Given the description of an element on the screen output the (x, y) to click on. 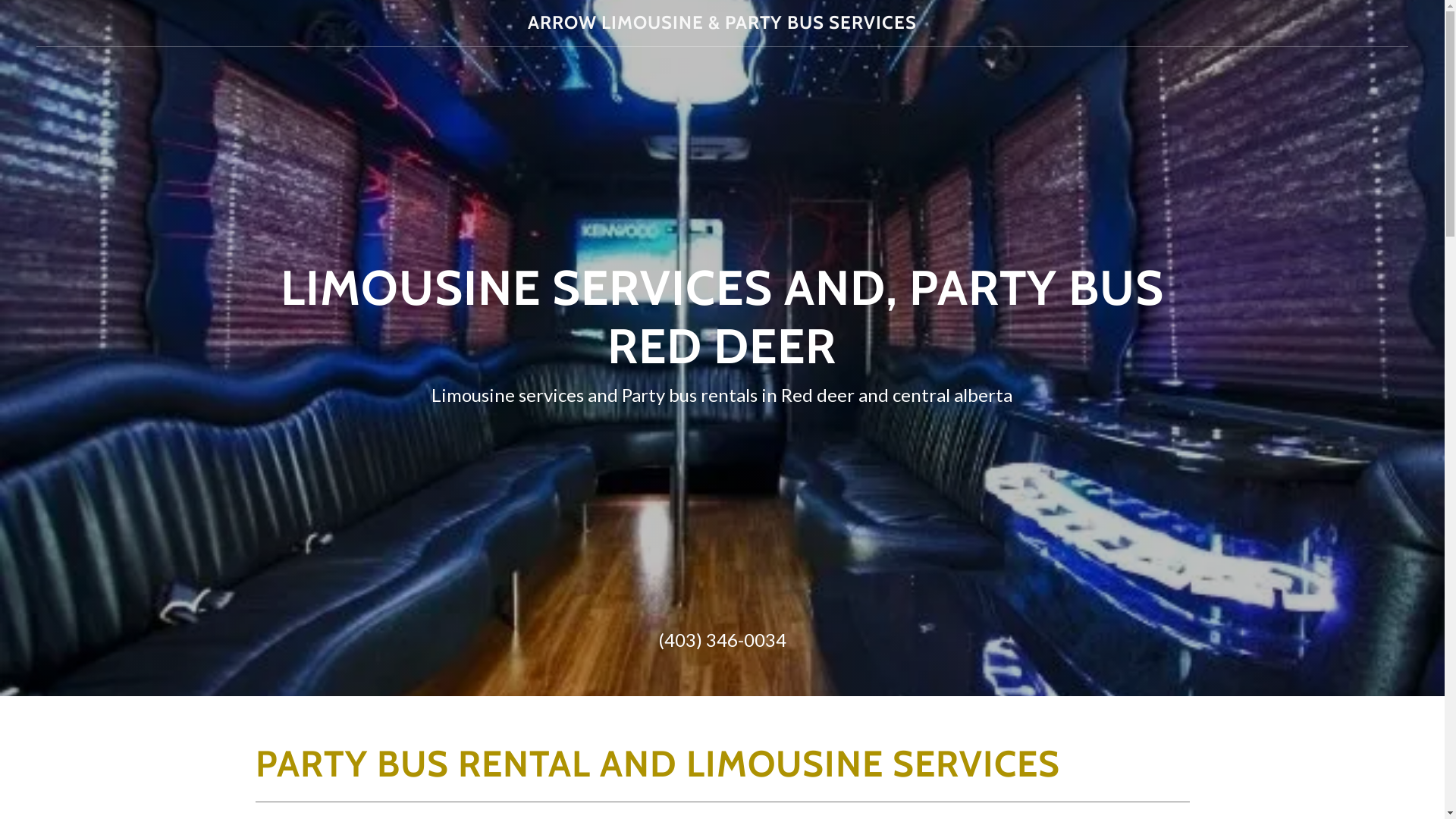
ARROW LIMOUSINE & PARTY BUS SERVICES Element type: text (721, 23)
(403) 346-0034 Element type: text (722, 639)
